Given the description of an element on the screen output the (x, y) to click on. 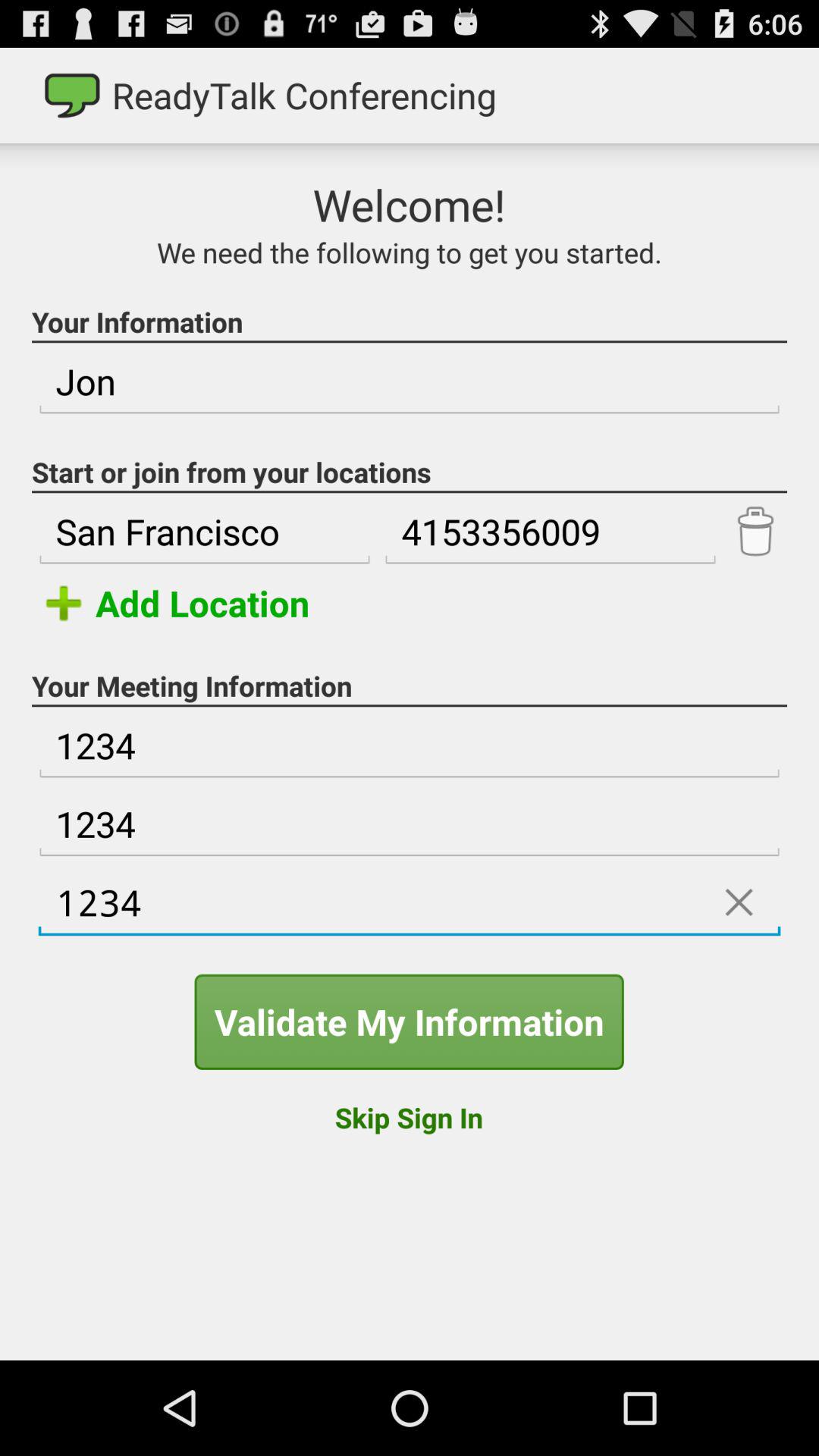
turn on icon below the validate my information item (408, 1117)
